Given the description of an element on the screen output the (x, y) to click on. 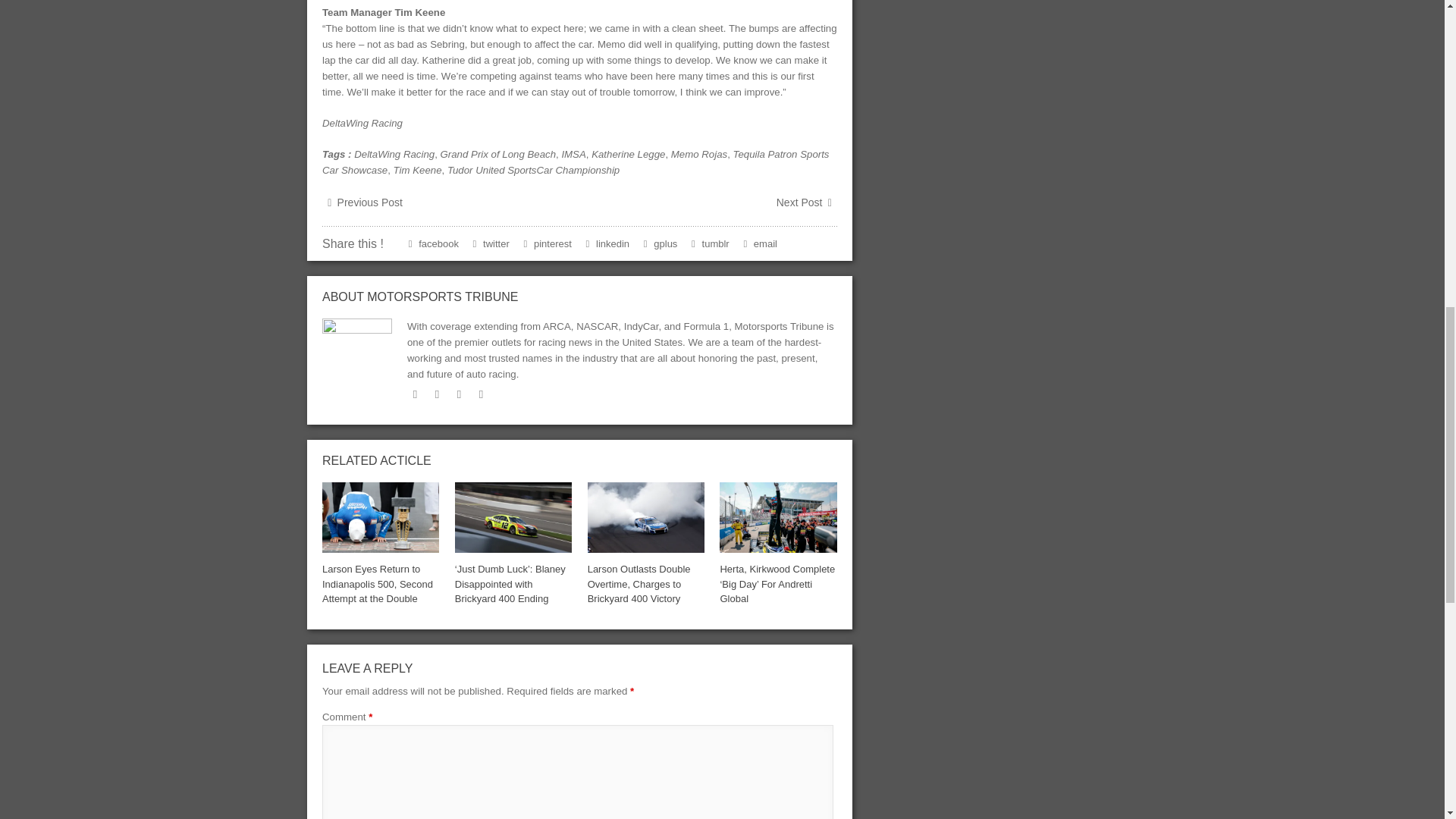
facebook (437, 393)
site (459, 393)
Posts by Motorsports Tribune (442, 296)
twitter (415, 393)
email (481, 393)
